Given the description of an element on the screen output the (x, y) to click on. 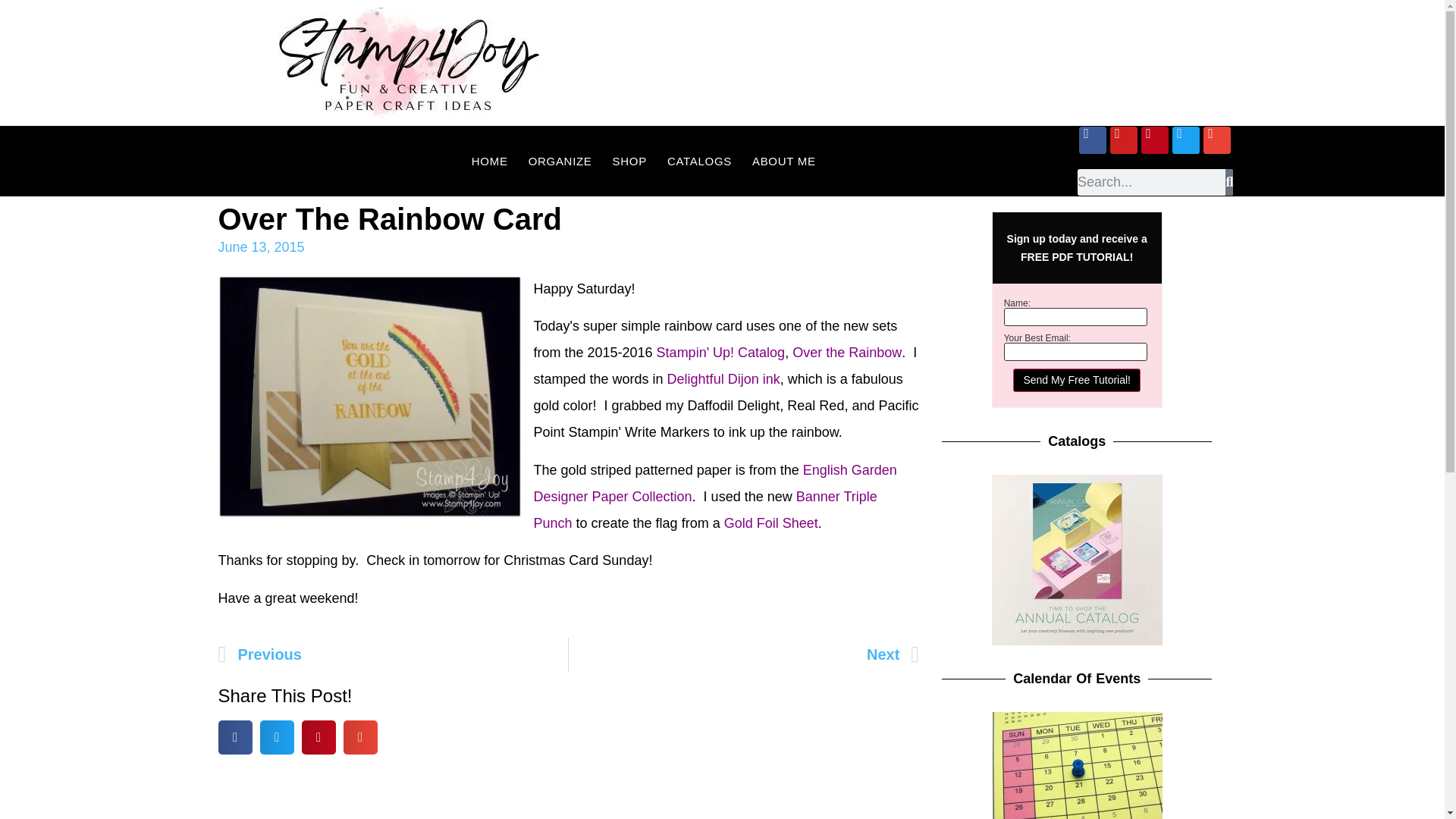
Send My Free Tutorial! (1076, 380)
Delightful Dijon Classic Ink (723, 378)
Banner Triple Punch (705, 509)
HOME (489, 160)
Stamp4Joy Calendar of Events (1076, 765)
Stampin' Up! Catalog (721, 352)
Send My Free Tutorial! (1076, 380)
Over the Rainbow (846, 352)
ORGANIZE (560, 160)
Gold Foil Sheet (770, 522)
